Given the description of an element on the screen output the (x, y) to click on. 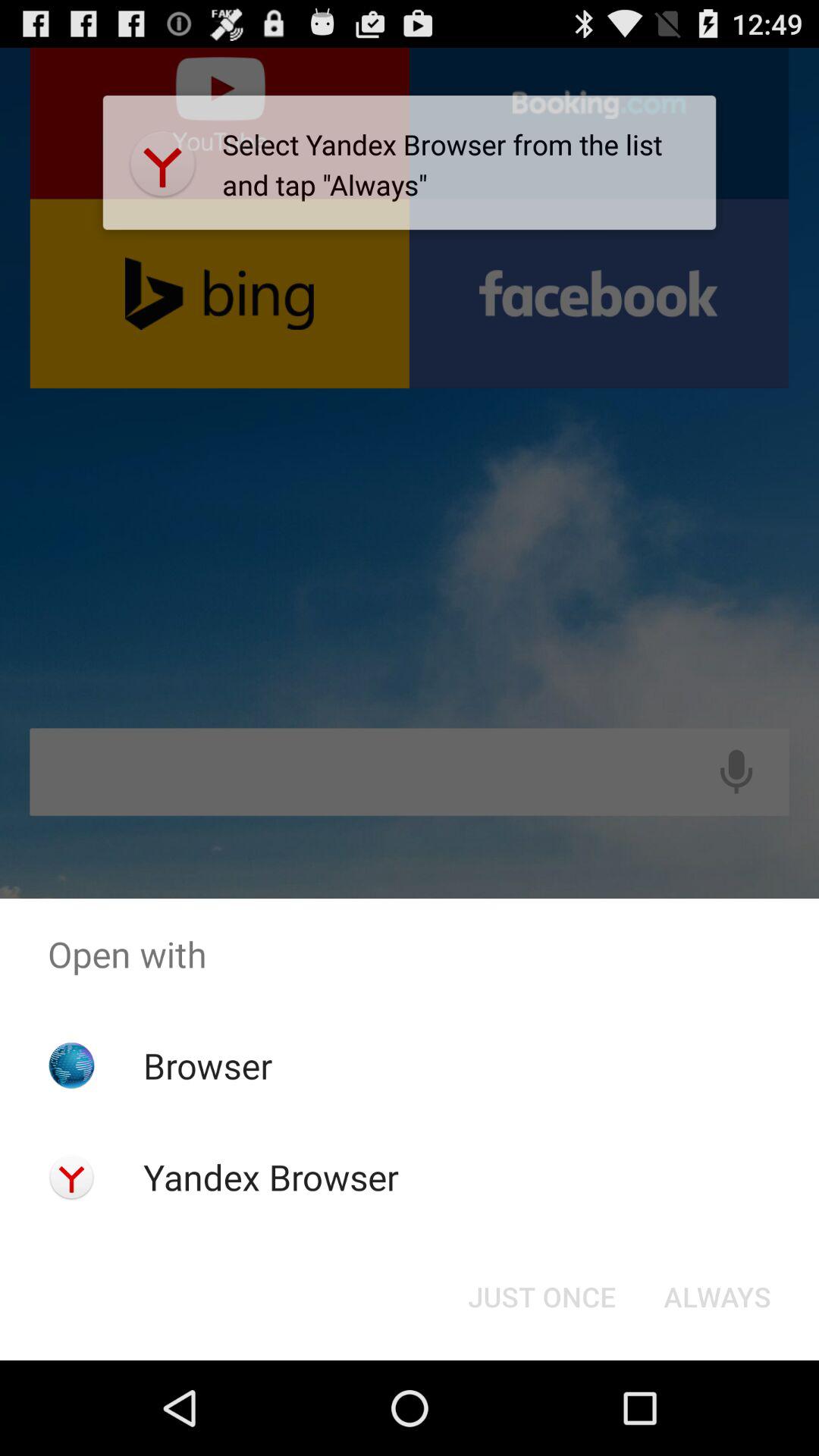
jump until the just once icon (541, 1296)
